Given the description of an element on the screen output the (x, y) to click on. 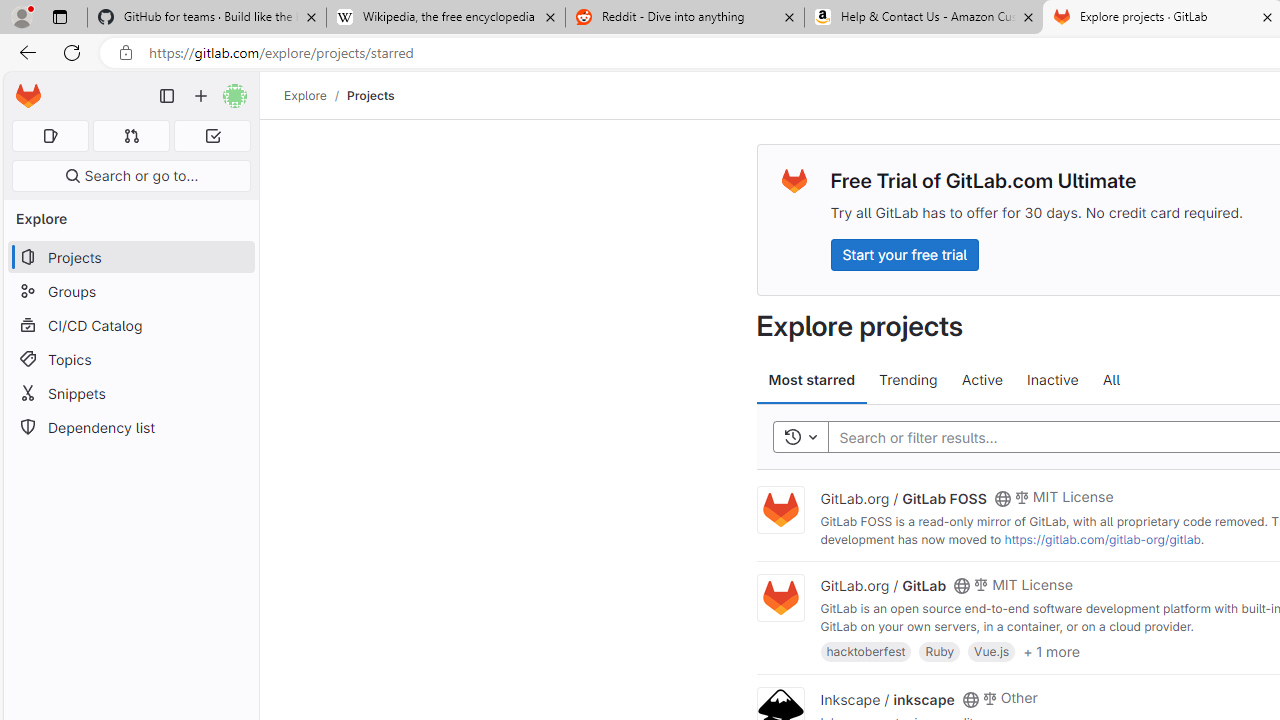
Help & Contact Us - Amazon Customer Service (924, 17)
Assigned issues 0 (50, 136)
Snippets (130, 393)
Wikipedia, the free encyclopedia (445, 17)
Topics (130, 358)
GitLab.org / GitLab FOSS (903, 497)
Skip to main content (23, 87)
Primary navigation sidebar (167, 96)
CI/CD Catalog (130, 325)
Reddit - Dive into anything (684, 17)
Trending (907, 379)
Create new... (201, 96)
